Given the description of an element on the screen output the (x, y) to click on. 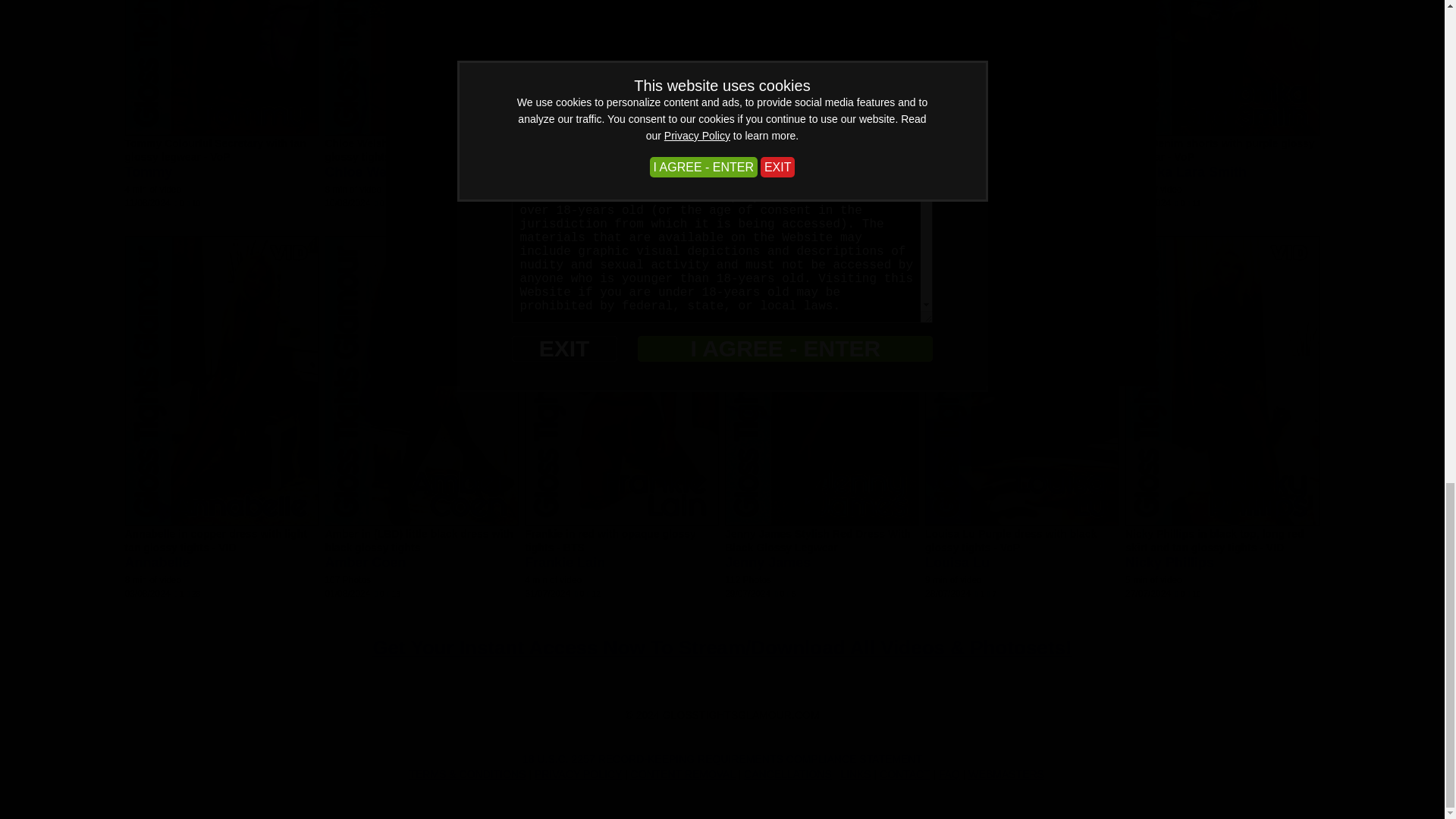
Pippa Doll (557, 159)
Pippa - Pink, perky and pert (593, 143)
Chloe Welsh in yellow skirt and tan glossy tights - VID (413, 149)
Tommy (147, 171)
Tommy Colourful Secretary with tan glossy legwear - VoP (214, 149)
Chloe Welsh (365, 171)
